Given the description of an element on the screen output the (x, y) to click on. 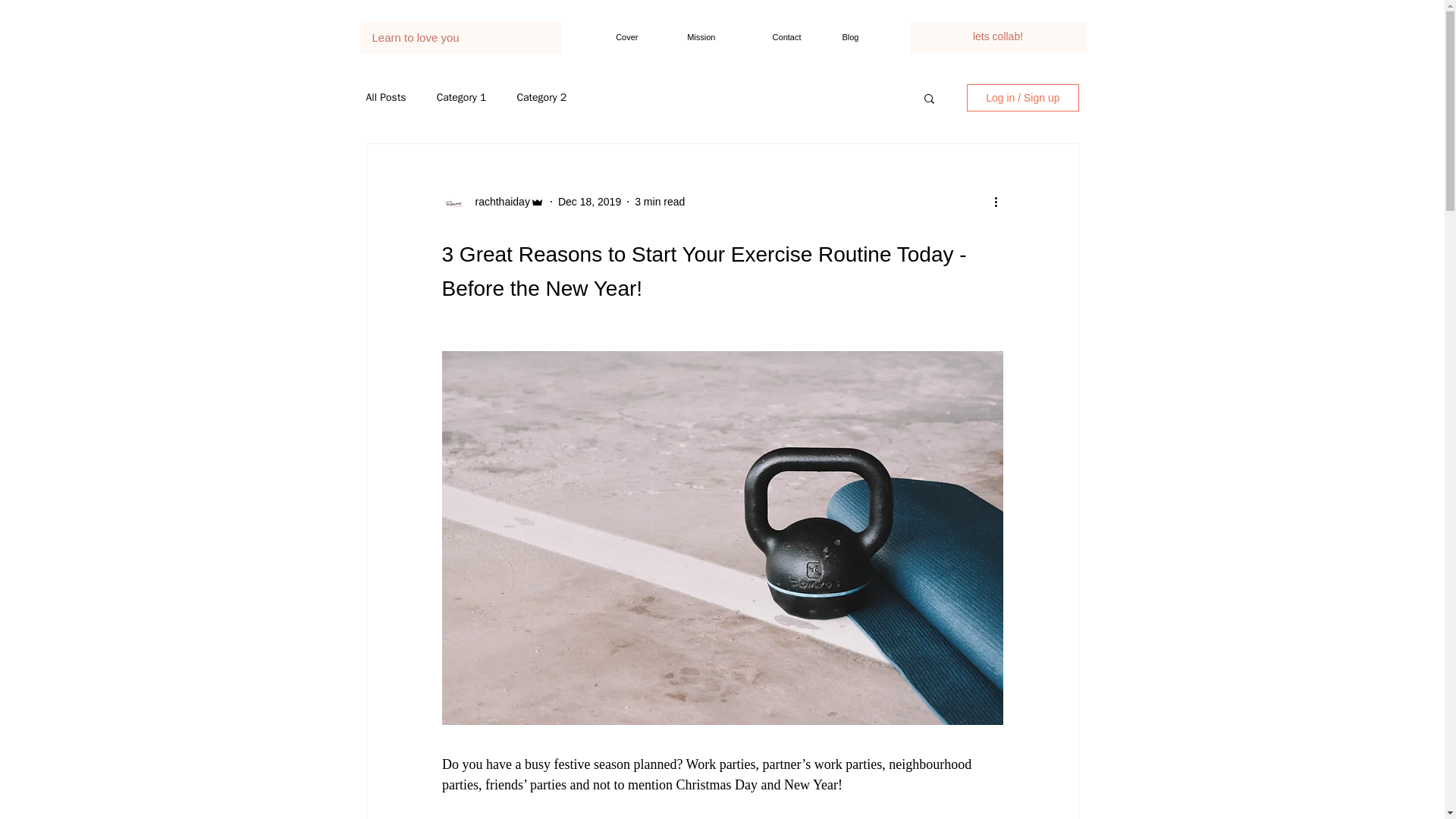
rachthaiday (497, 201)
lets collab! (998, 37)
Dec 18, 2019 (589, 201)
Blog (841, 36)
All Posts (385, 97)
Category 2 (541, 97)
Category 1 (461, 97)
Mission (687, 36)
Cover (615, 36)
Contact (769, 36)
3 min read (659, 201)
Learn to love you (461, 37)
